Given the description of an element on the screen output the (x, y) to click on. 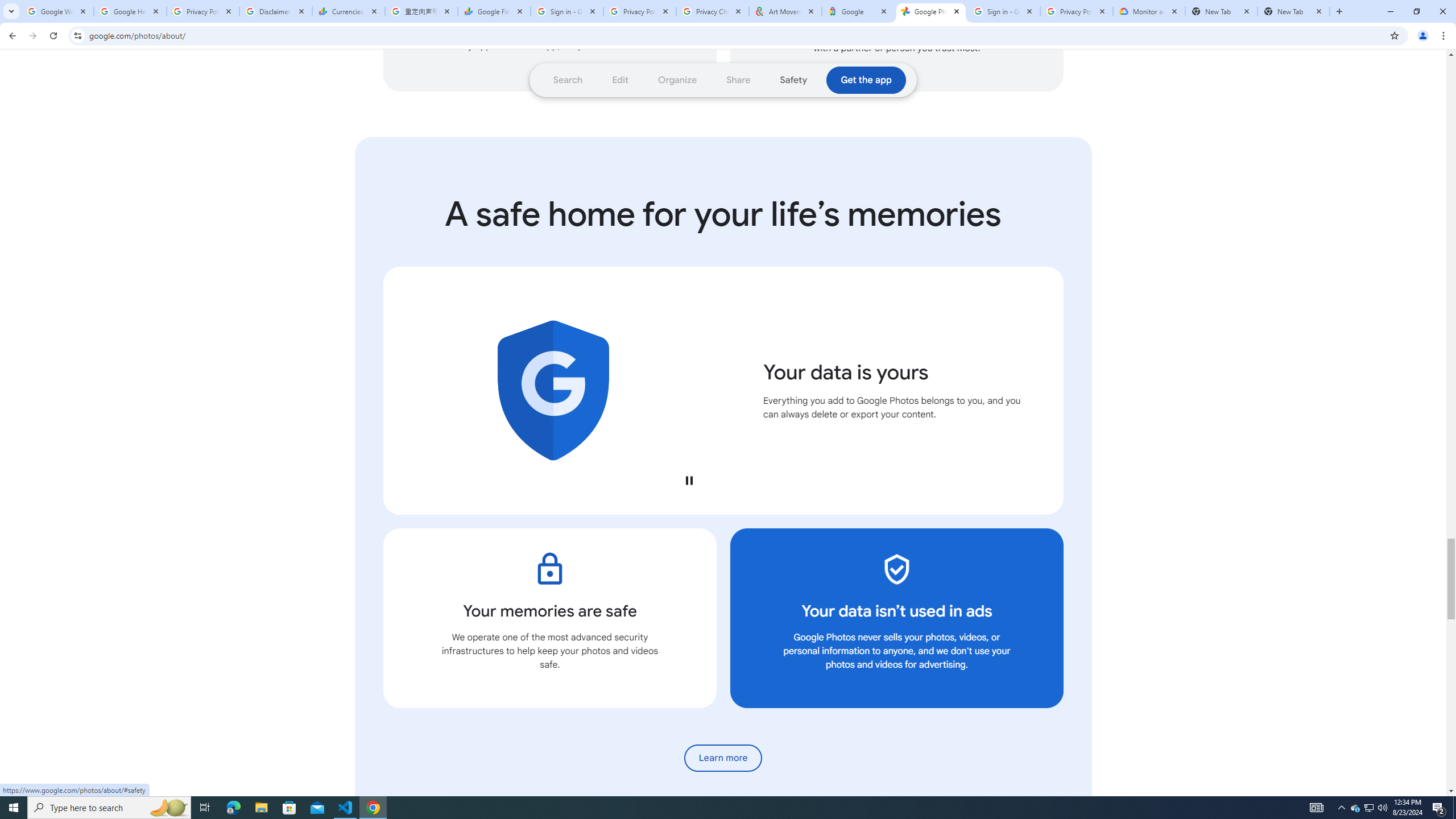
Go to section: Organize (677, 80)
